Given the description of an element on the screen output the (x, y) to click on. 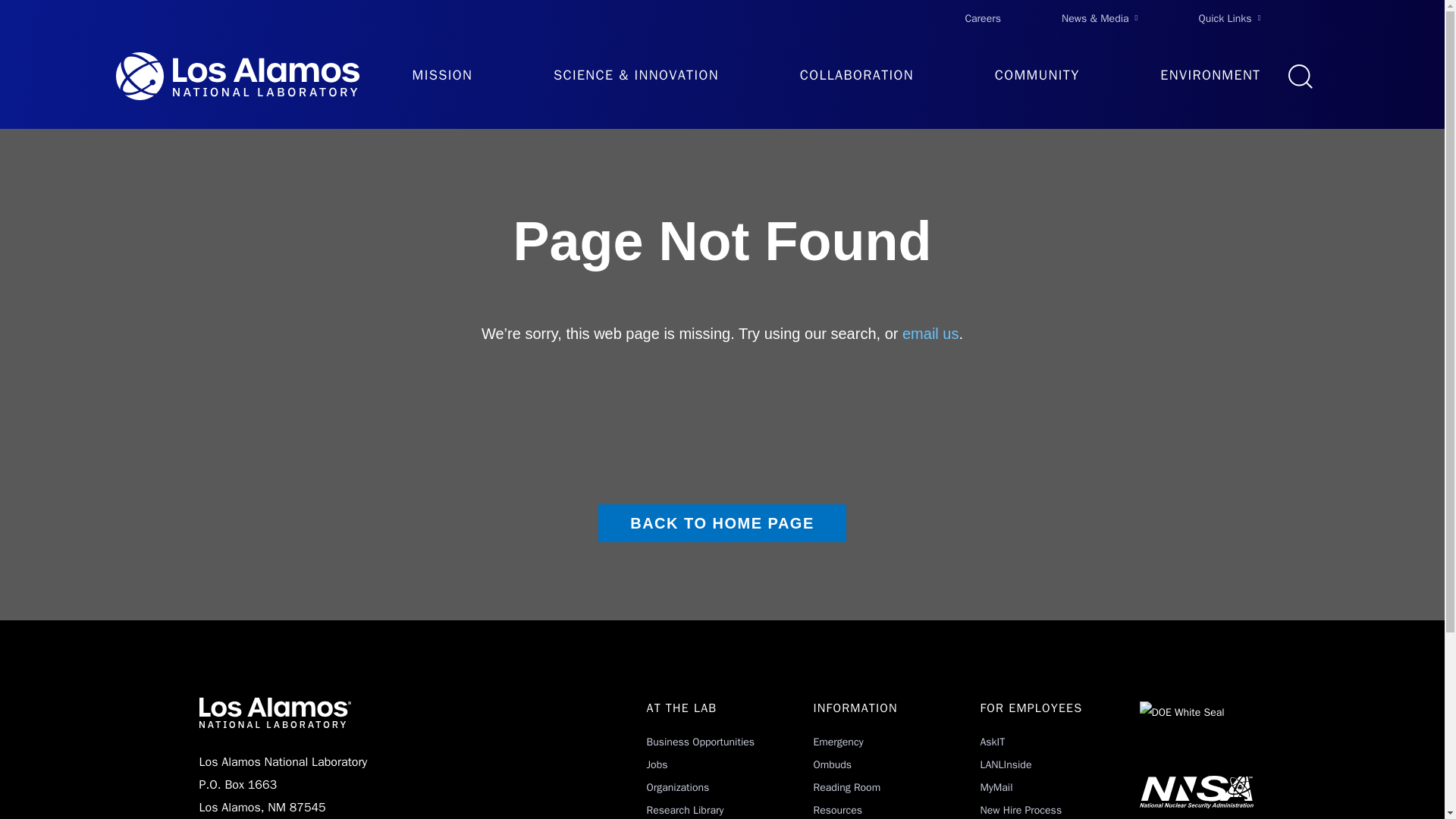
Research Library (684, 809)
email us (930, 333)
Careers (982, 18)
Resources (836, 809)
BACK TO HOME PAGE (721, 523)
Business Opportunities (700, 741)
Emergency (837, 741)
Ombuds (831, 764)
Reading Room (846, 787)
AskIT (991, 741)
